Given the description of an element on the screen output the (x, y) to click on. 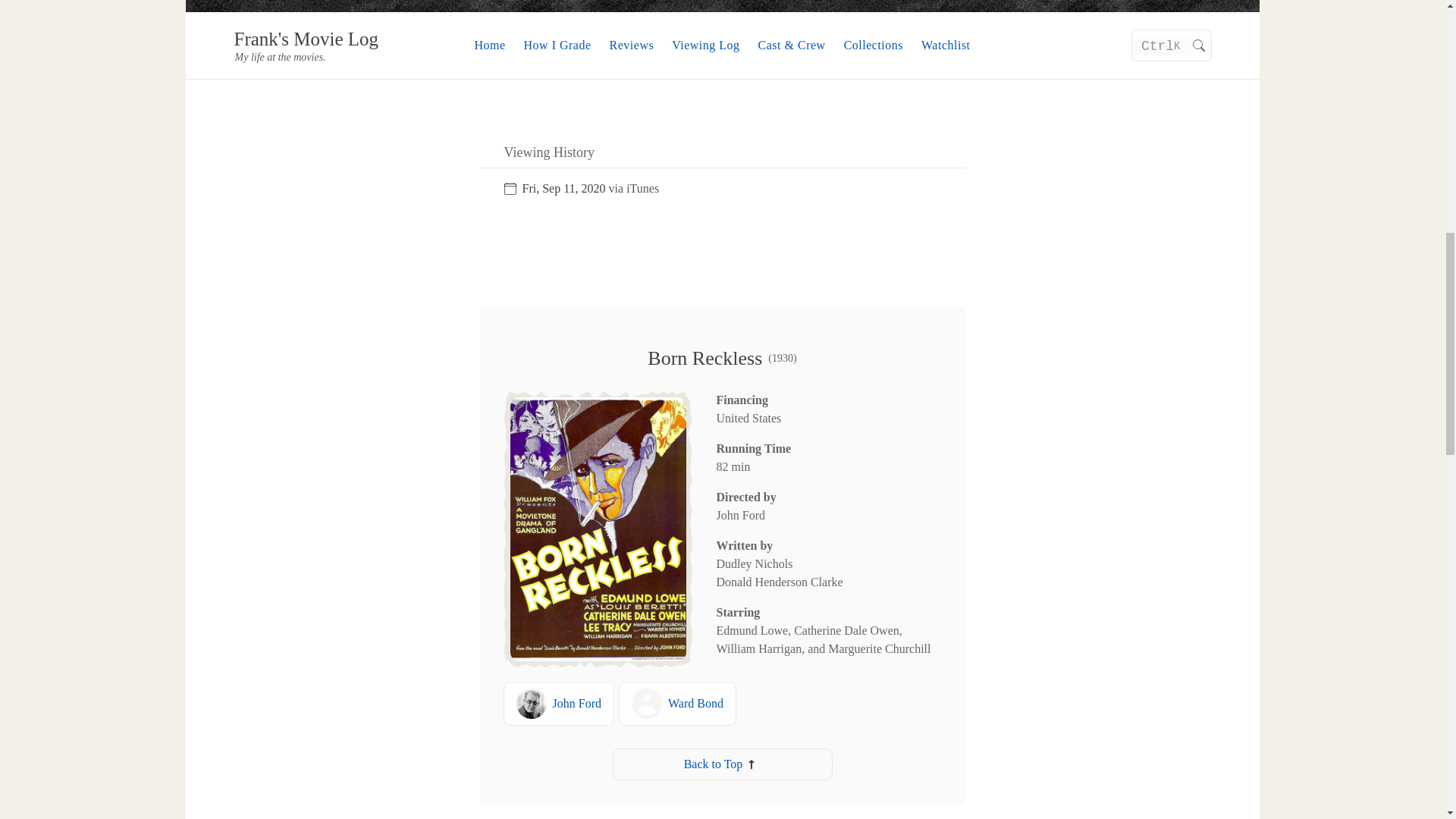
Ward Bond (677, 703)
John Ford (557, 703)
Back to Top (721, 764)
